Given the description of an element on the screen output the (x, y) to click on. 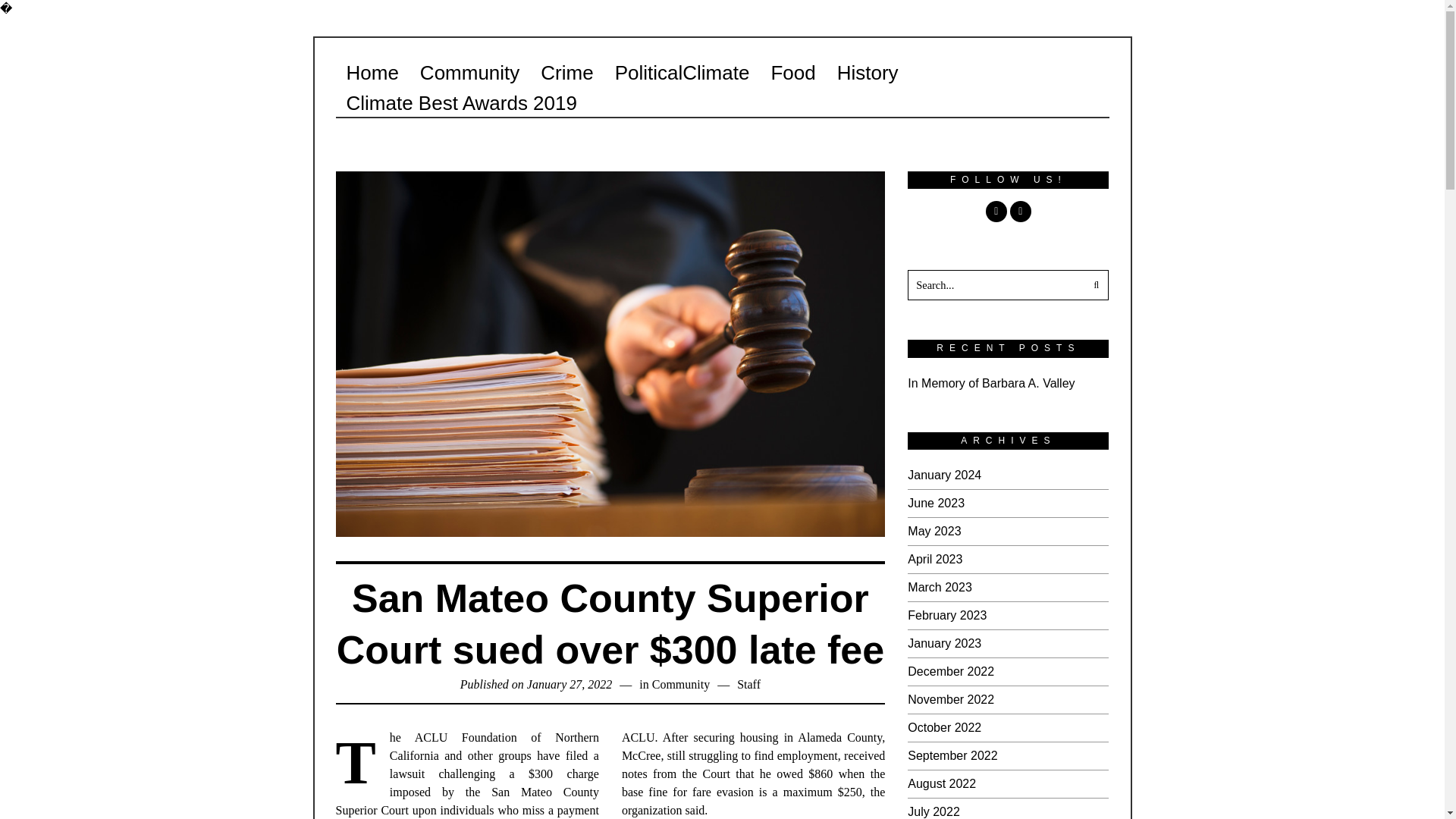
June 2023 (935, 502)
Home (371, 72)
September 2022 (952, 755)
PoliticalClimate (682, 72)
Climate Best Awards 2019 (460, 102)
Crime (566, 72)
May 2023 (933, 530)
Facebook (996, 210)
Twitter (1020, 210)
Go (1093, 285)
November 2022 (950, 698)
October 2022 (944, 727)
Posts by Staff (748, 684)
Community (469, 72)
January 2024 (944, 474)
